Given the description of an element on the screen output the (x, y) to click on. 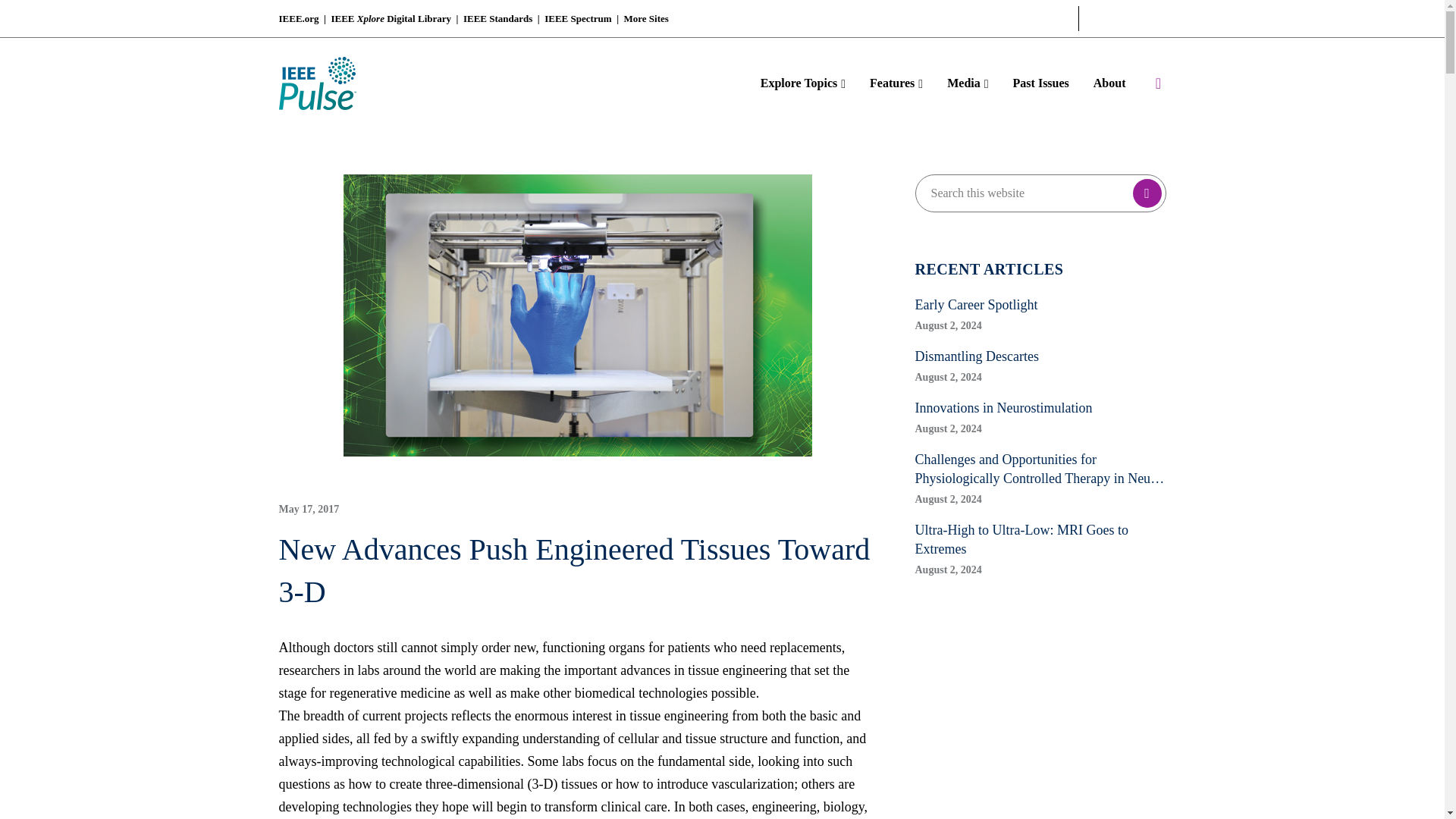
More Sites (646, 18)
Visit embs.org (1030, 18)
Dismantling Descartes (1040, 356)
Explore Topics (808, 82)
IEEE.org (1128, 18)
IEEE Xplore Digital Library (390, 18)
IEEE Spectrum (577, 18)
embs.org (1030, 18)
Early Career Spotlight (1040, 304)
IEEE Standards (497, 18)
